Given the description of an element on the screen output the (x, y) to click on. 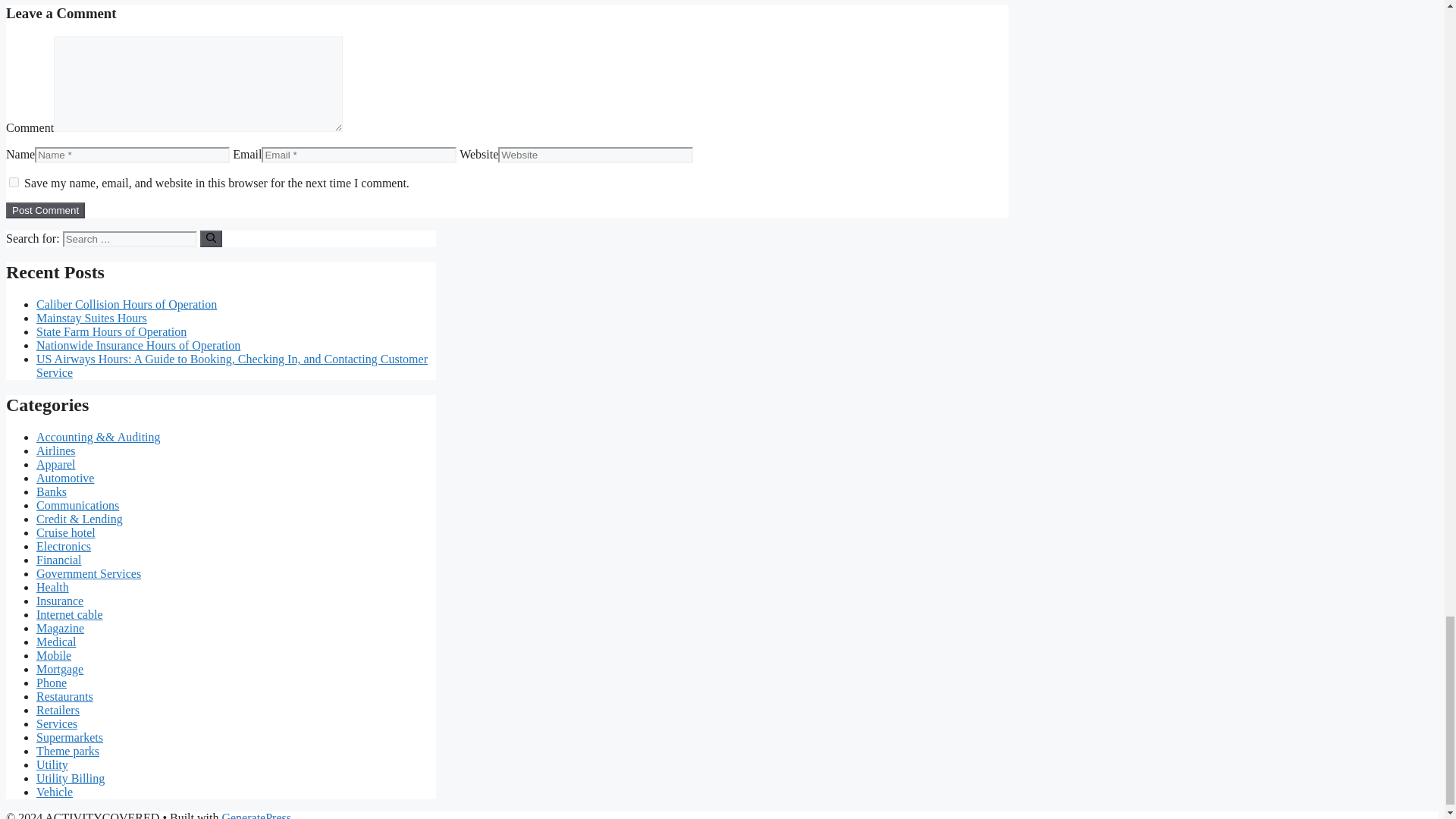
Banks (51, 491)
Airlines (55, 450)
yes (13, 182)
Government Services (88, 573)
Apparel (55, 463)
Cruise hotel (66, 532)
Post Comment (44, 210)
Post Comment (44, 210)
State Farm Hours of Operation (111, 331)
